Given the description of an element on the screen output the (x, y) to click on. 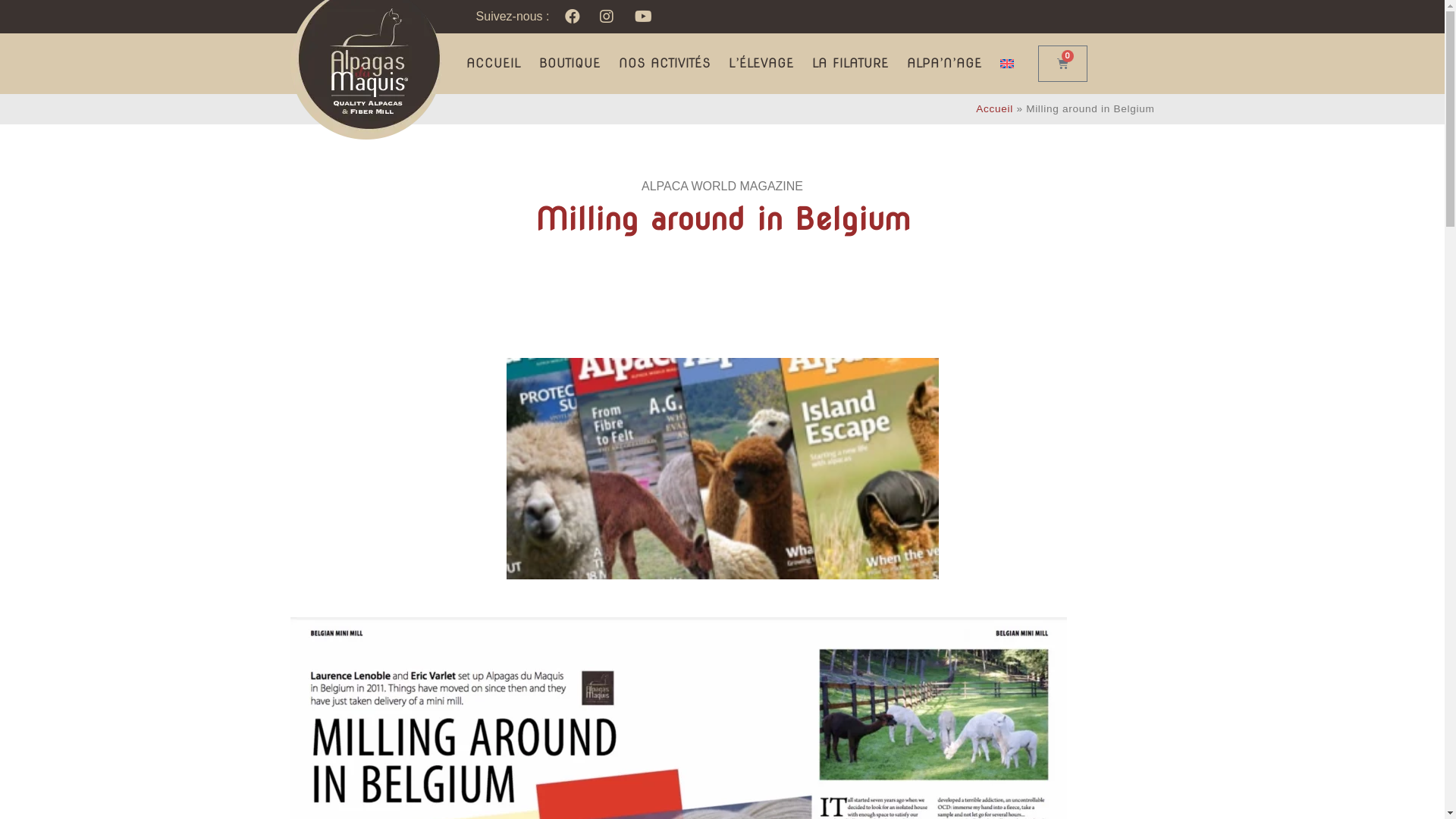
ACCUEIL Element type: text (492, 63)
Accueil Element type: text (994, 108)
0 Element type: text (1061, 63)
BOUTIQUE Element type: text (568, 63)
LA FILATURE Element type: text (849, 63)
